Given the description of an element on the screen output the (x, y) to click on. 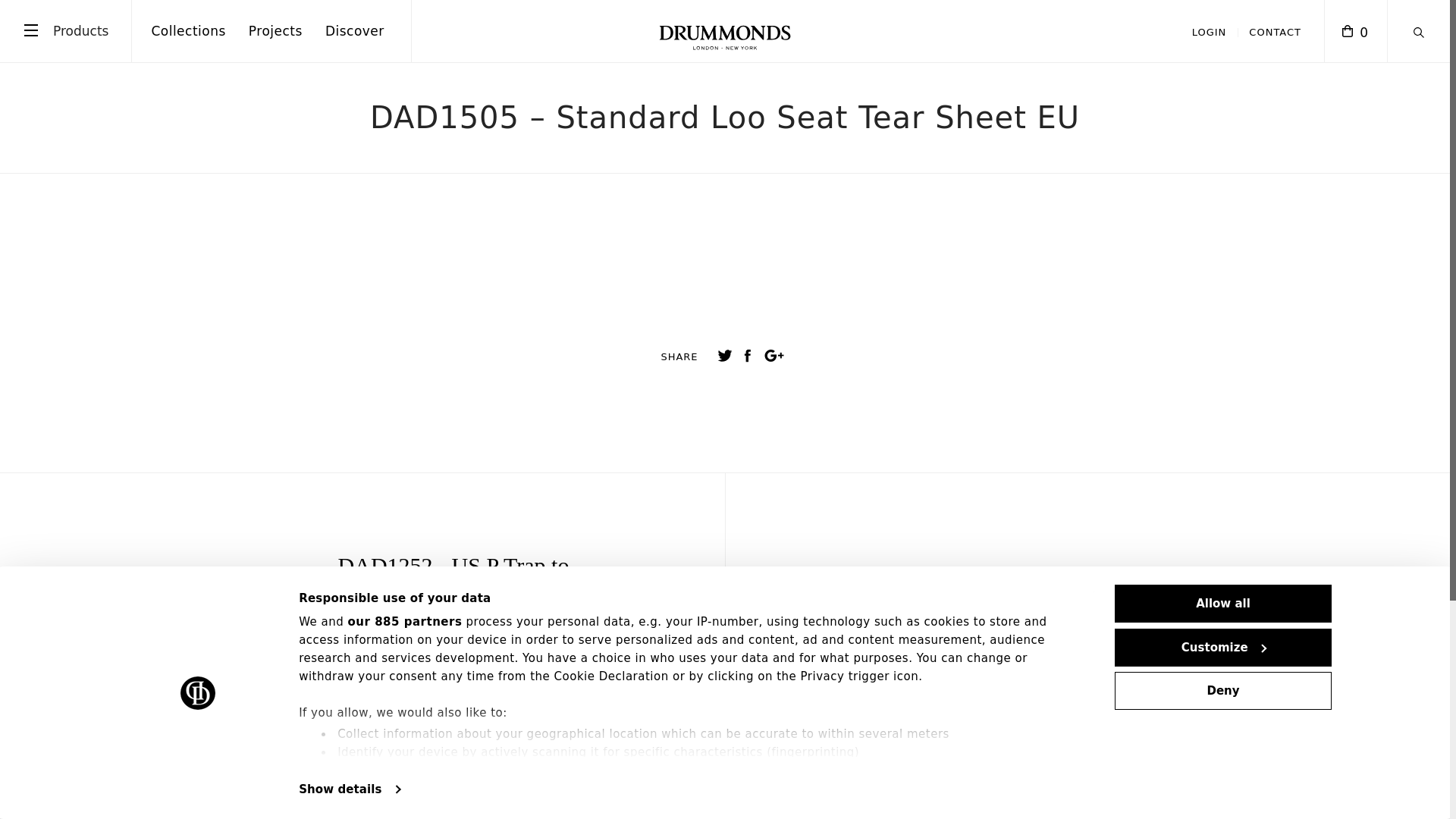
details section (894, 773)
our 885 partners (405, 621)
Show details (348, 789)
